Given the description of an element on the screen output the (x, y) to click on. 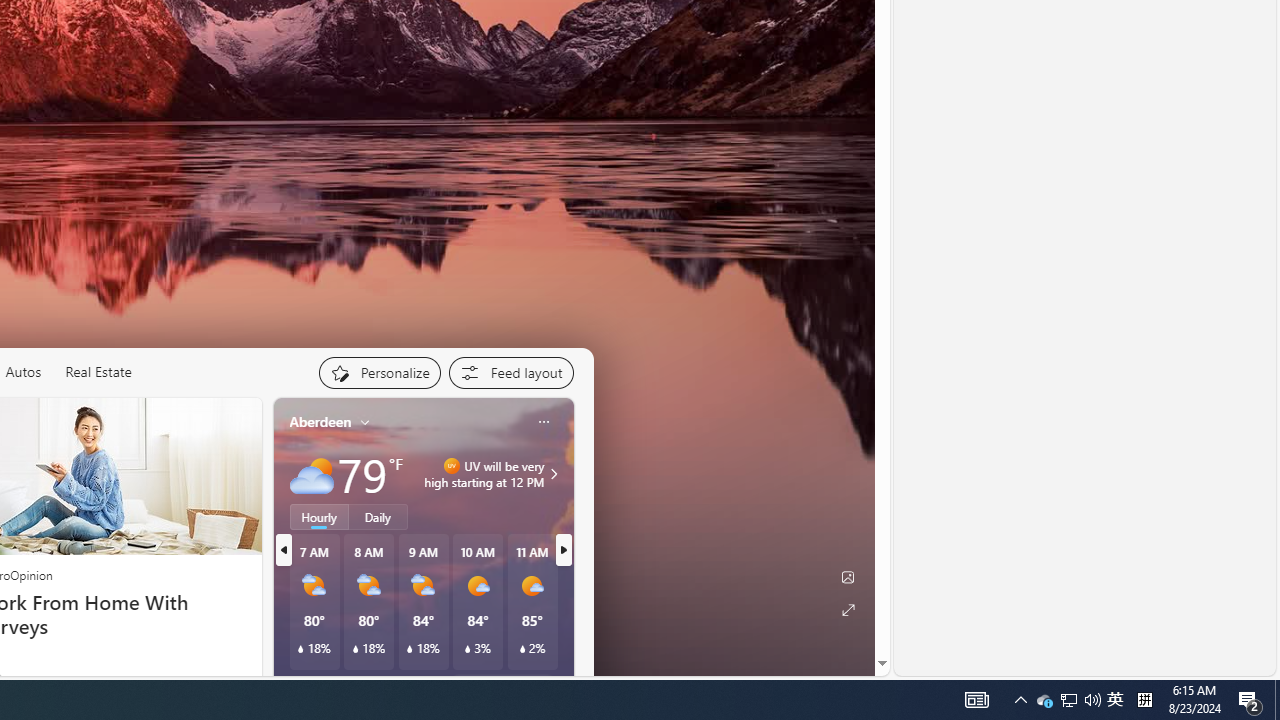
previous (283, 549)
Real Estate (98, 371)
Edit Background (847, 577)
My location (365, 421)
Expand background (847, 610)
Class: weather-current-precipitation-glyph (522, 649)
Mostly cloudy (311, 474)
See full forecast (502, 685)
Aberdeen (320, 422)
next (563, 549)
Hourly (319, 516)
